Given the description of an element on the screen output the (x, y) to click on. 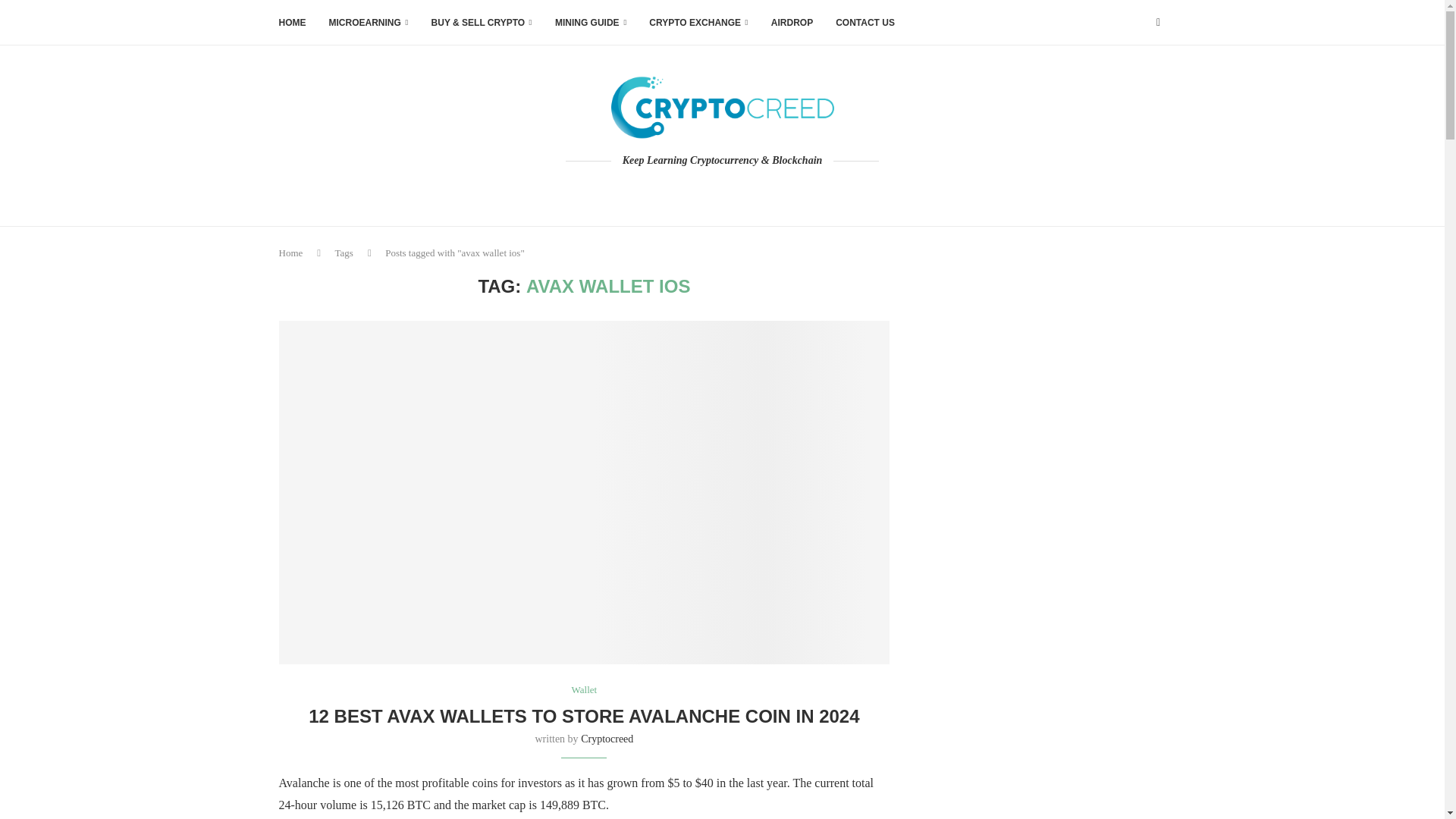
MICROEARNING (369, 22)
MINING GUIDE (590, 22)
